Given the description of an element on the screen output the (x, y) to click on. 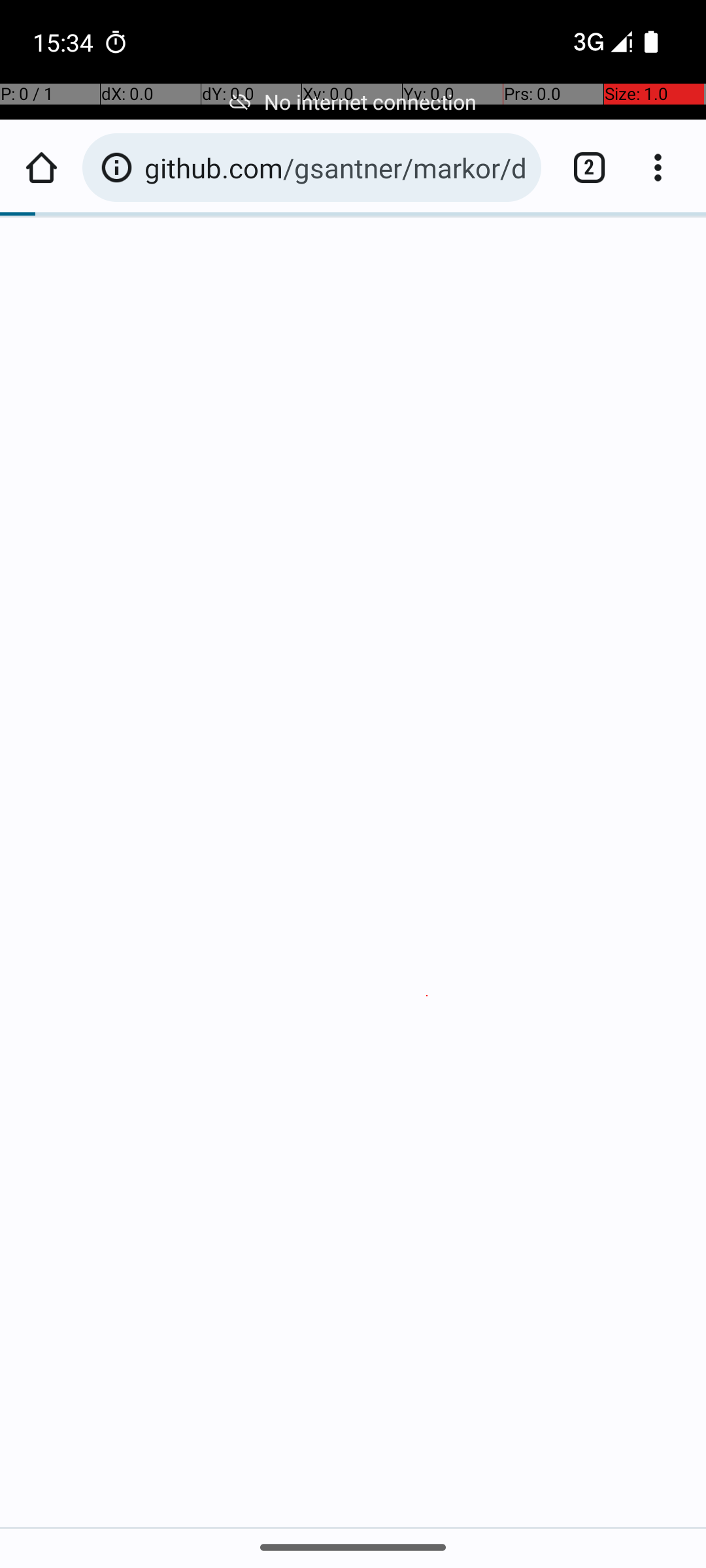
github.com/gsantner/markor/discussions Element type: android.widget.EditText (335, 167)
